Given the description of an element on the screen output the (x, y) to click on. 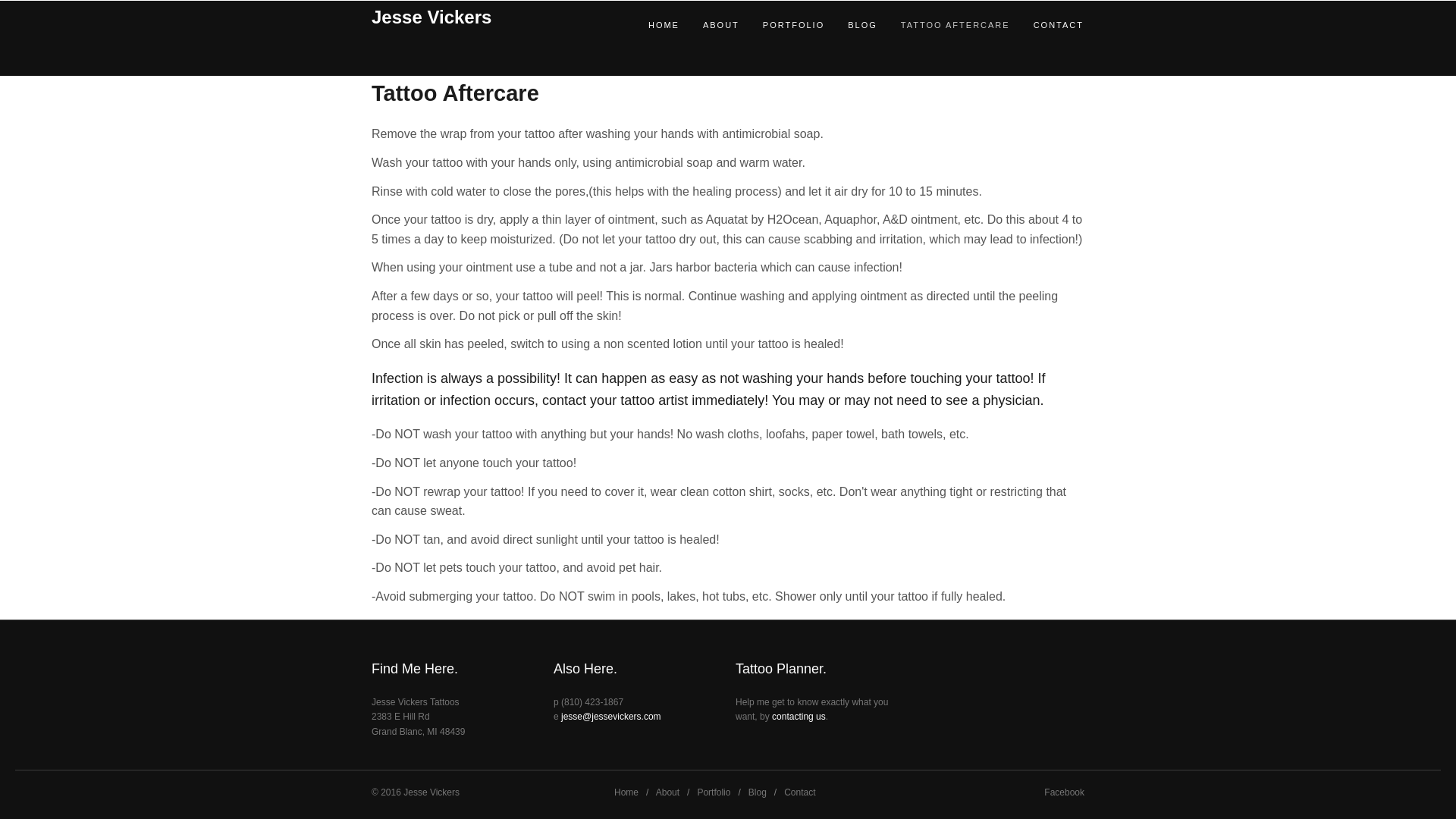
TATTOO AFTERCARE (943, 24)
BLOG (851, 24)
Jesse Vickers (431, 792)
CONTACT (1046, 24)
Blog (757, 792)
Facebook (1063, 792)
PORTFOLIO (781, 24)
Portfolio (713, 792)
Home (626, 792)
Contact (799, 792)
HOME (652, 24)
Jesse Vickers (484, 17)
ABOUT (709, 24)
About (667, 792)
contacting us (798, 716)
